Given the description of an element on the screen output the (x, y) to click on. 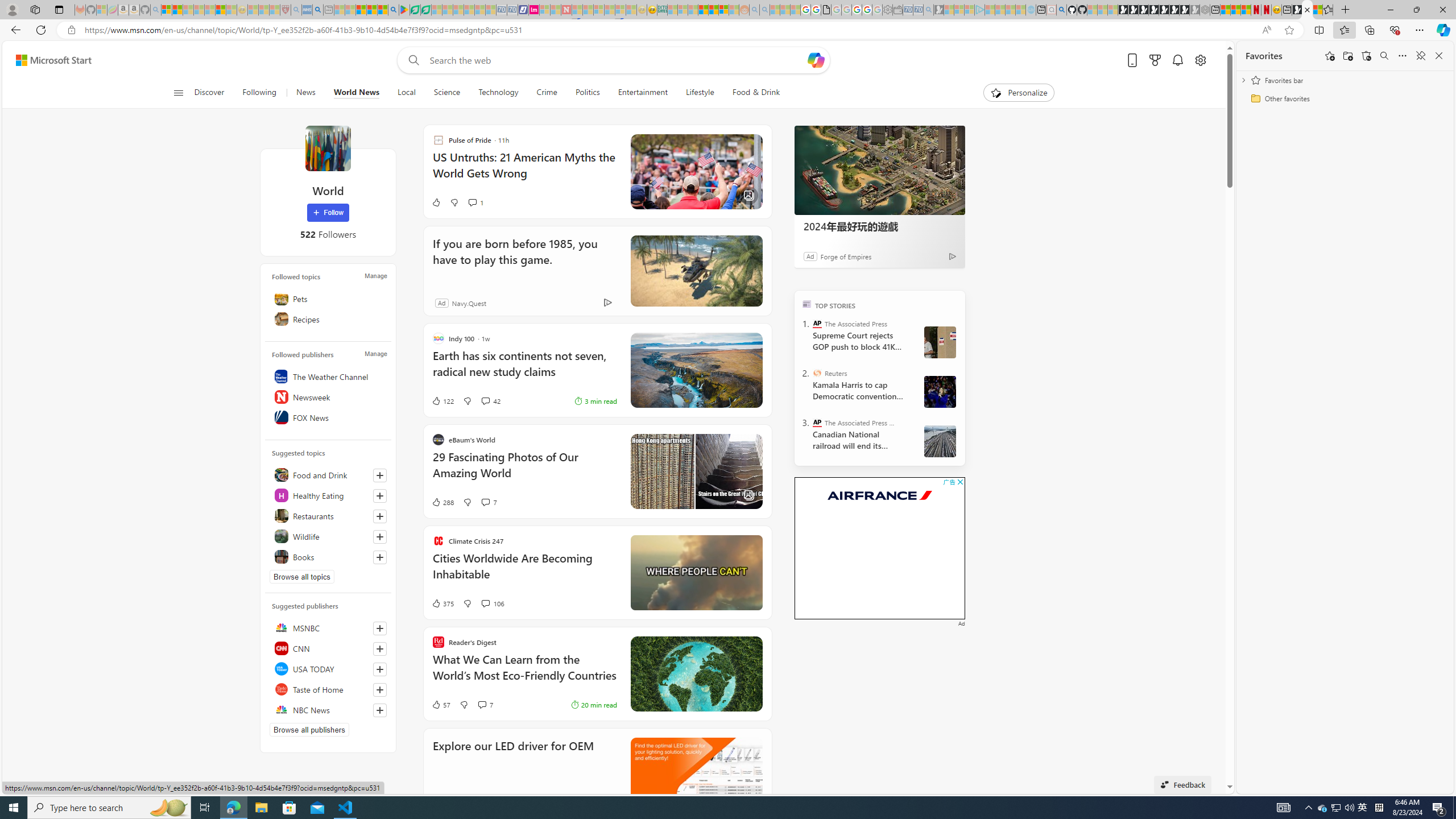
Lifestyle (699, 92)
Follow this source (379, 710)
Follow this source (379, 710)
Unpin favorites (1420, 55)
World (327, 148)
View comments 1 Comment (472, 202)
Taste of Home (327, 688)
The Weather Channel - MSN - Sleeping (187, 9)
NBC News (327, 709)
Personalize (1019, 92)
Reuters (816, 372)
